Given the description of an element on the screen output the (x, y) to click on. 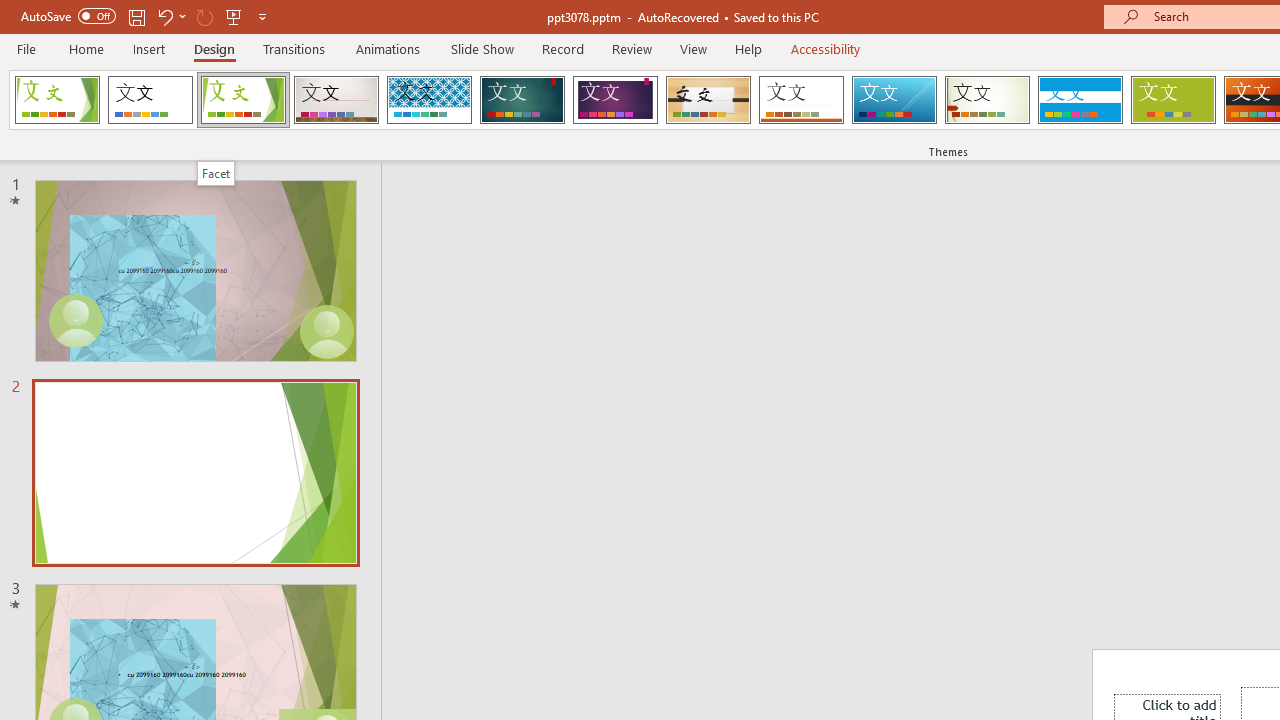
Wisp (987, 100)
Basis (1172, 100)
Organic (708, 100)
